Given the description of an element on the screen output the (x, y) to click on. 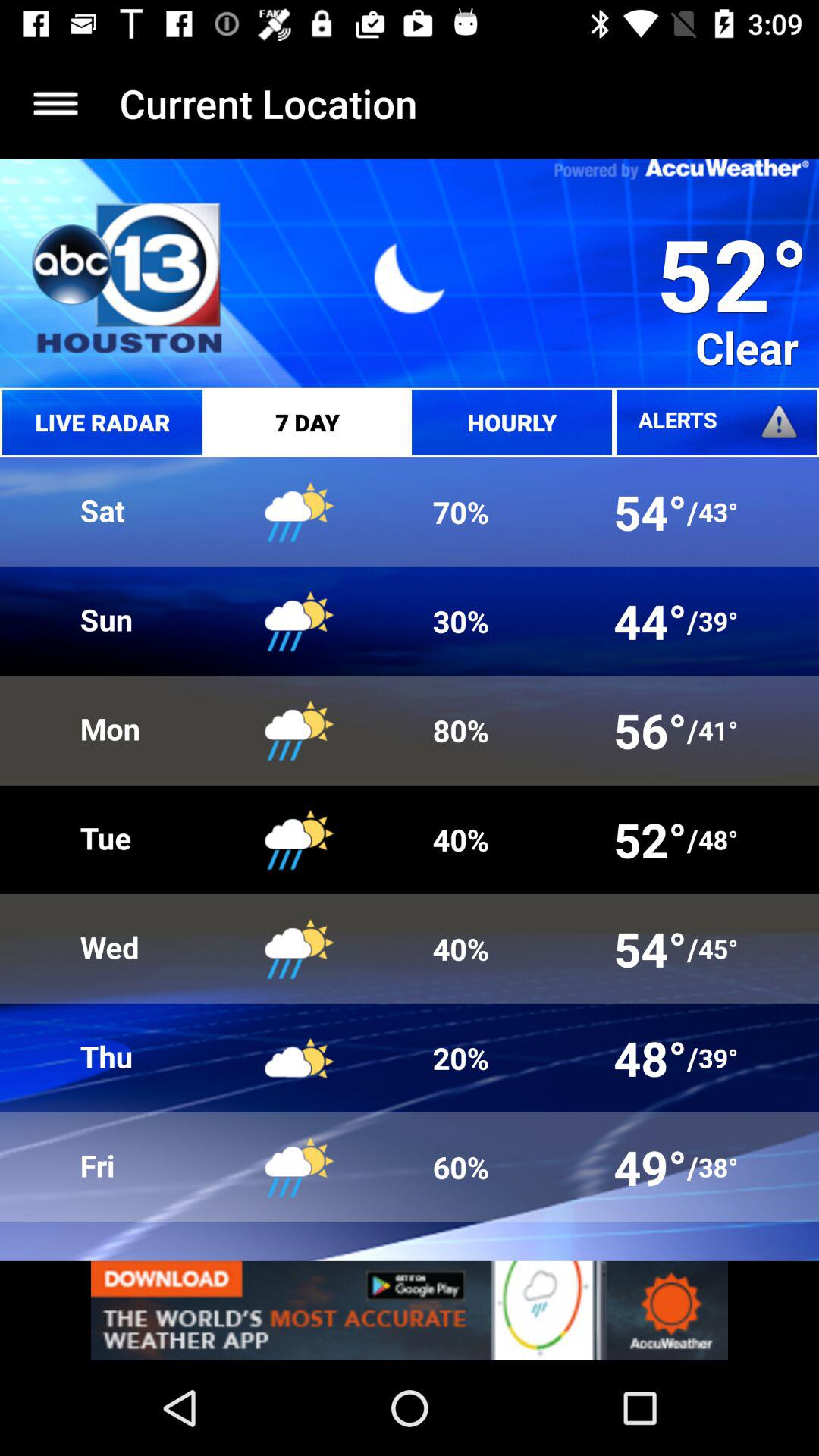
advertisement (409, 1310)
